Given the description of an element on the screen output the (x, y) to click on. 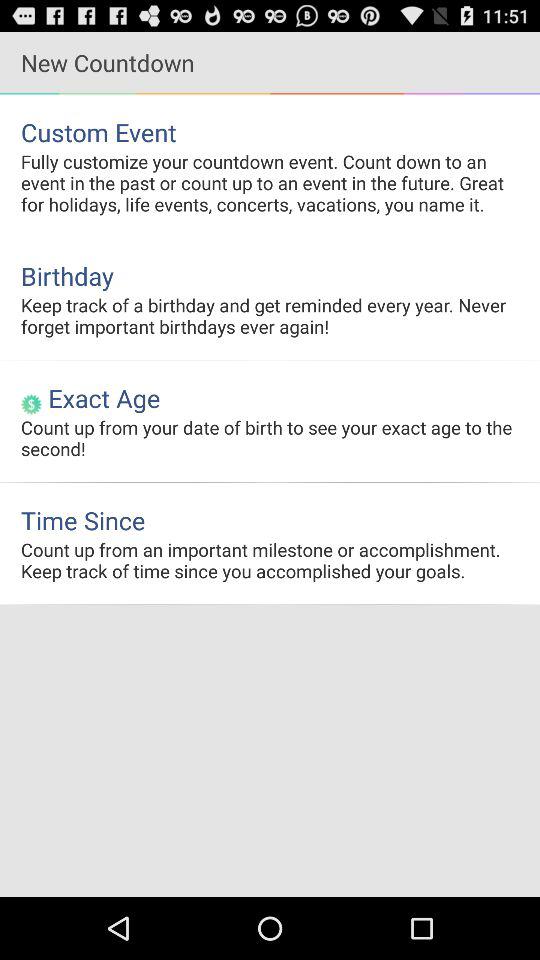
jump to the fully customize your item (270, 182)
